Given the description of an element on the screen output the (x, y) to click on. 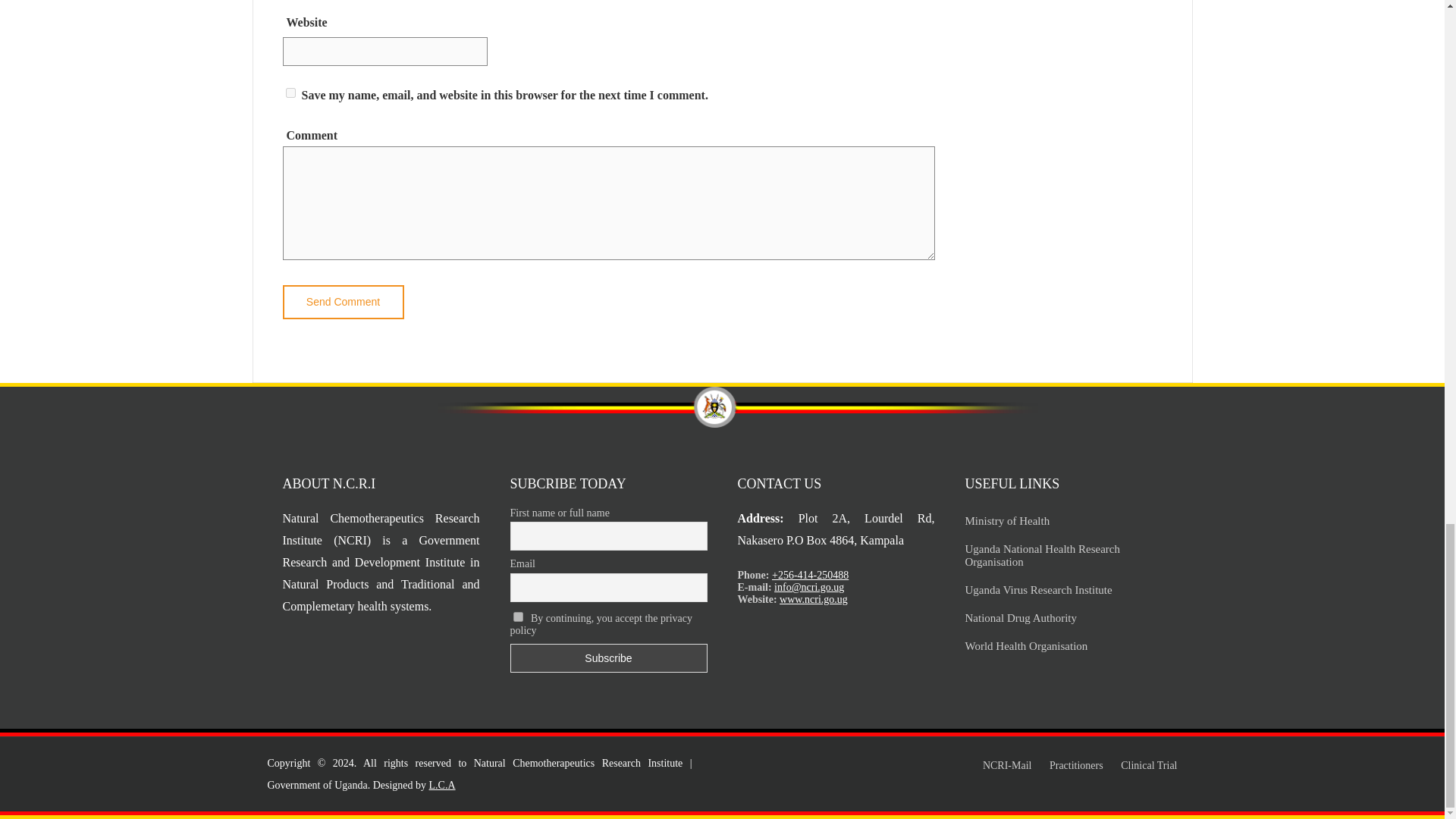
on (517, 616)
WPlook (442, 785)
Send Comment (342, 302)
Subscribe (607, 657)
yes (290, 92)
